Given the description of an element on the screen output the (x, y) to click on. 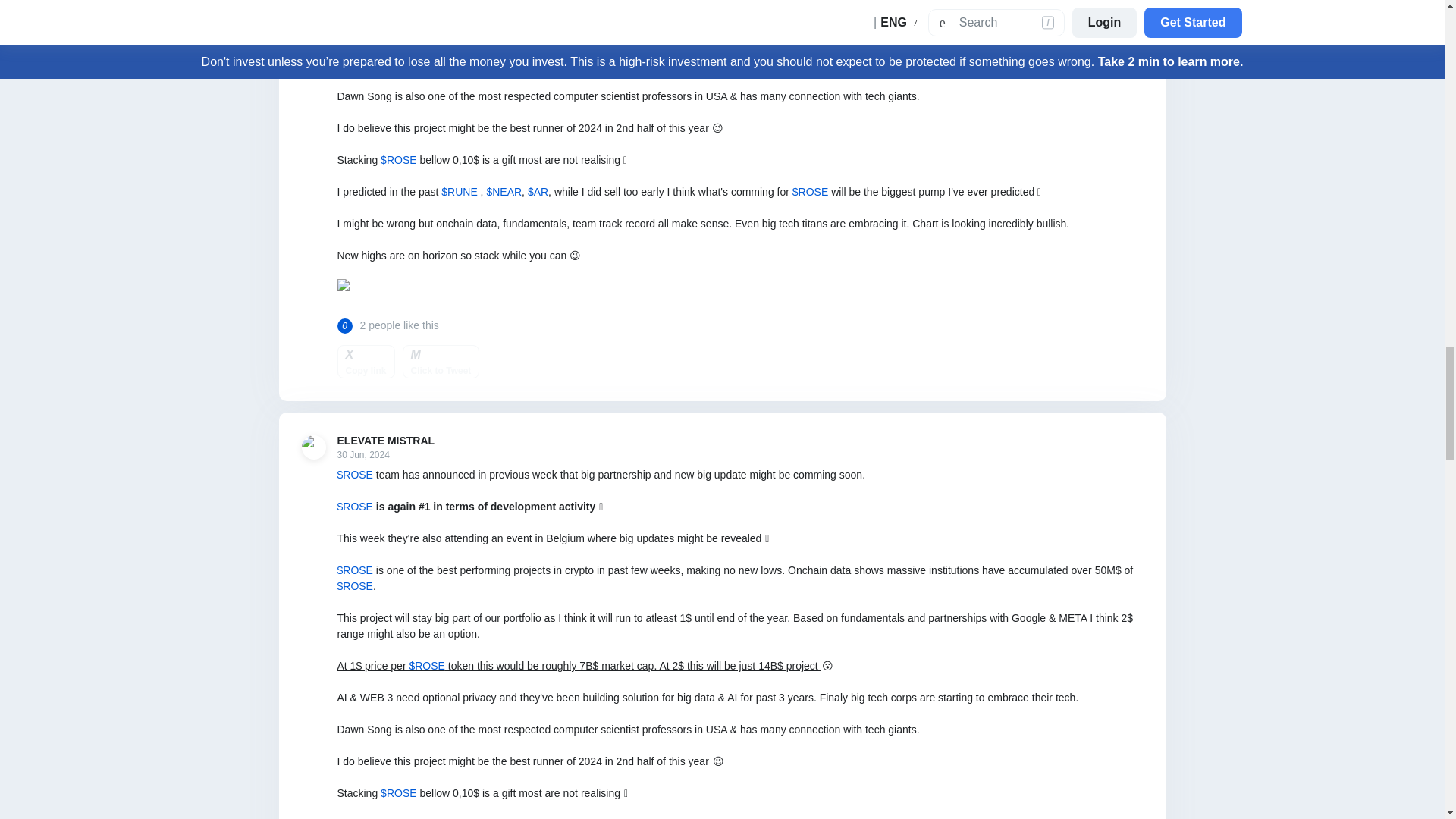
Jun 30, 2024, 10:17:53 PM (384, 454)
